Given the description of an element on the screen output the (x, y) to click on. 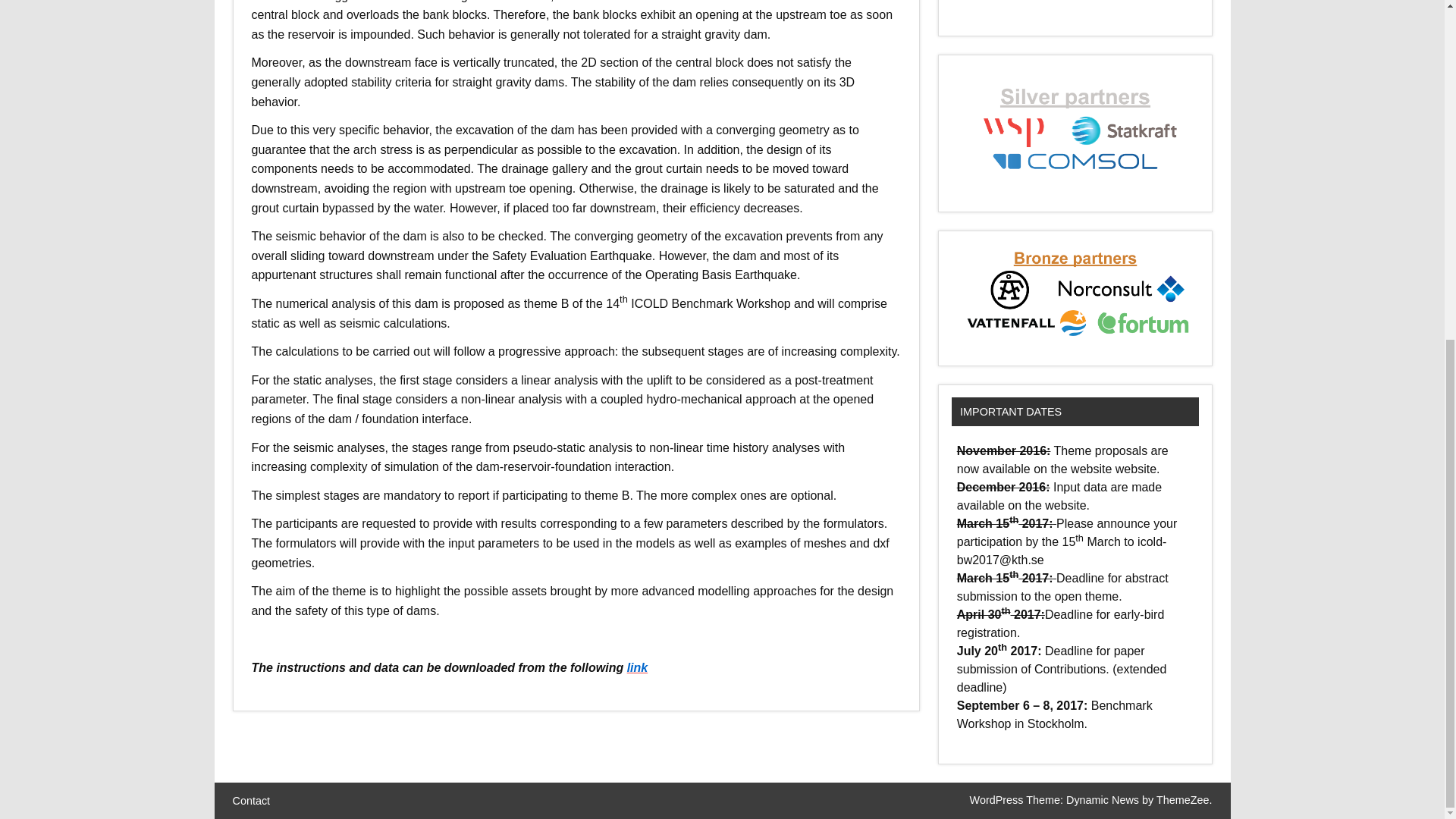
link (637, 667)
Contact (250, 800)
